Given the description of an element on the screen output the (x, y) to click on. 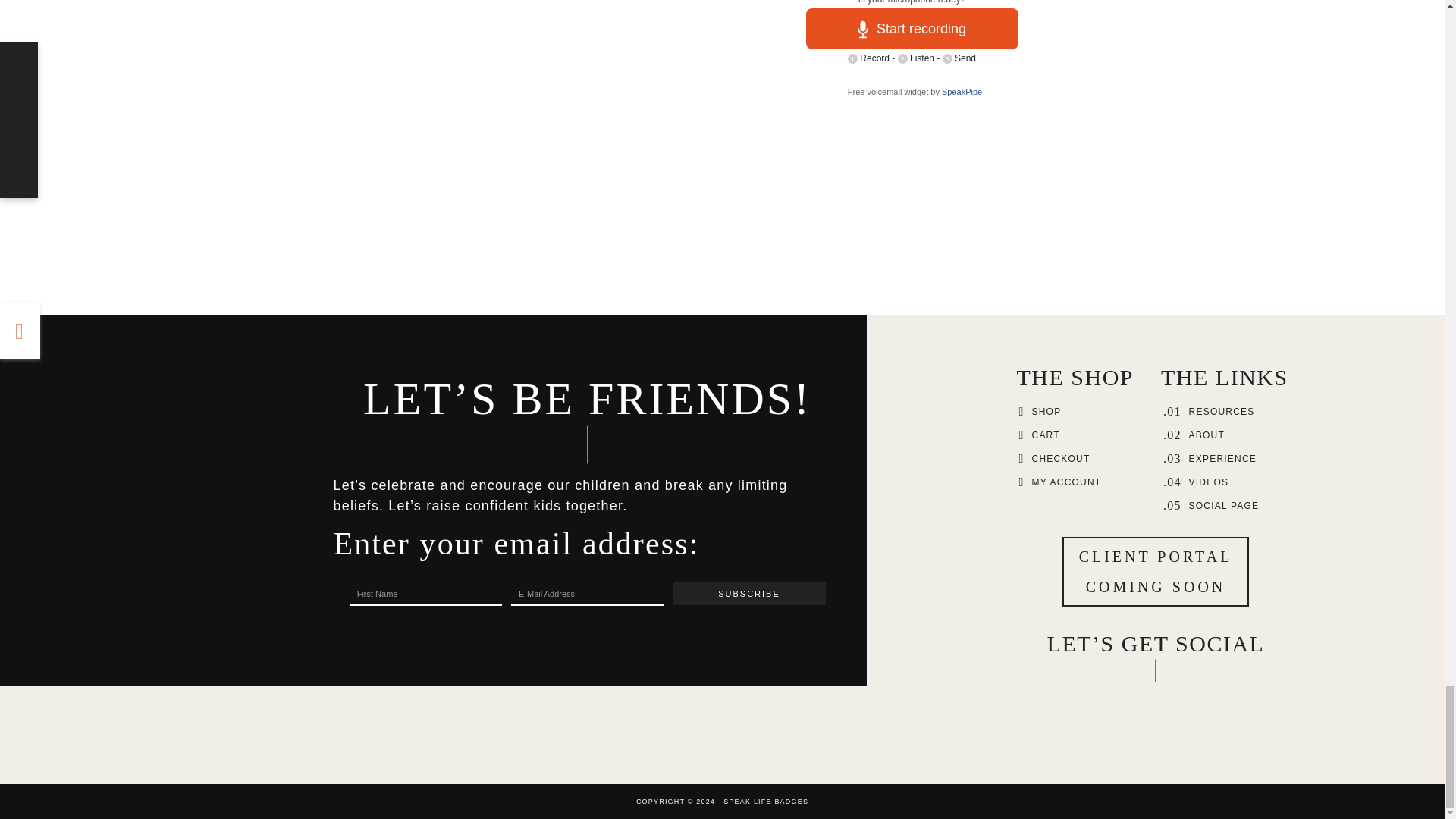
Subscribe (748, 593)
YouTube (1203, 697)
Pinterest (1171, 697)
Facebook (1106, 697)
Instagram (1139, 697)
